Given the description of an element on the screen output the (x, y) to click on. 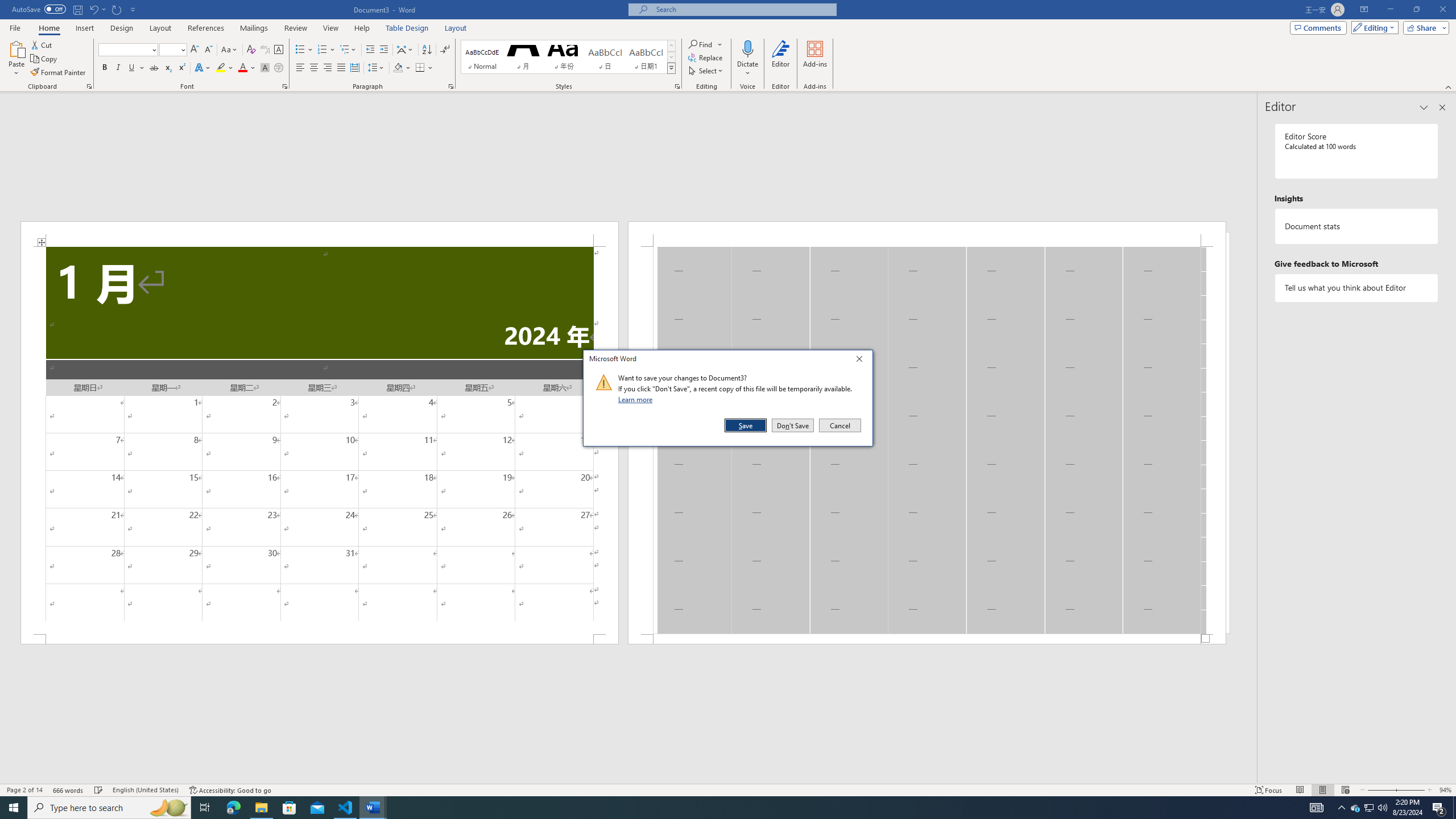
Clear Formatting (250, 49)
Cut (42, 44)
Text Effects and Typography (202, 67)
Don't Save (792, 425)
Font... (285, 85)
Header -Section 1- (926, 233)
Notification Chevron (1341, 807)
Subscript (167, 67)
Phonetic Guide... (264, 49)
Footer -Section 1- (926, 638)
